Given the description of an element on the screen output the (x, y) to click on. 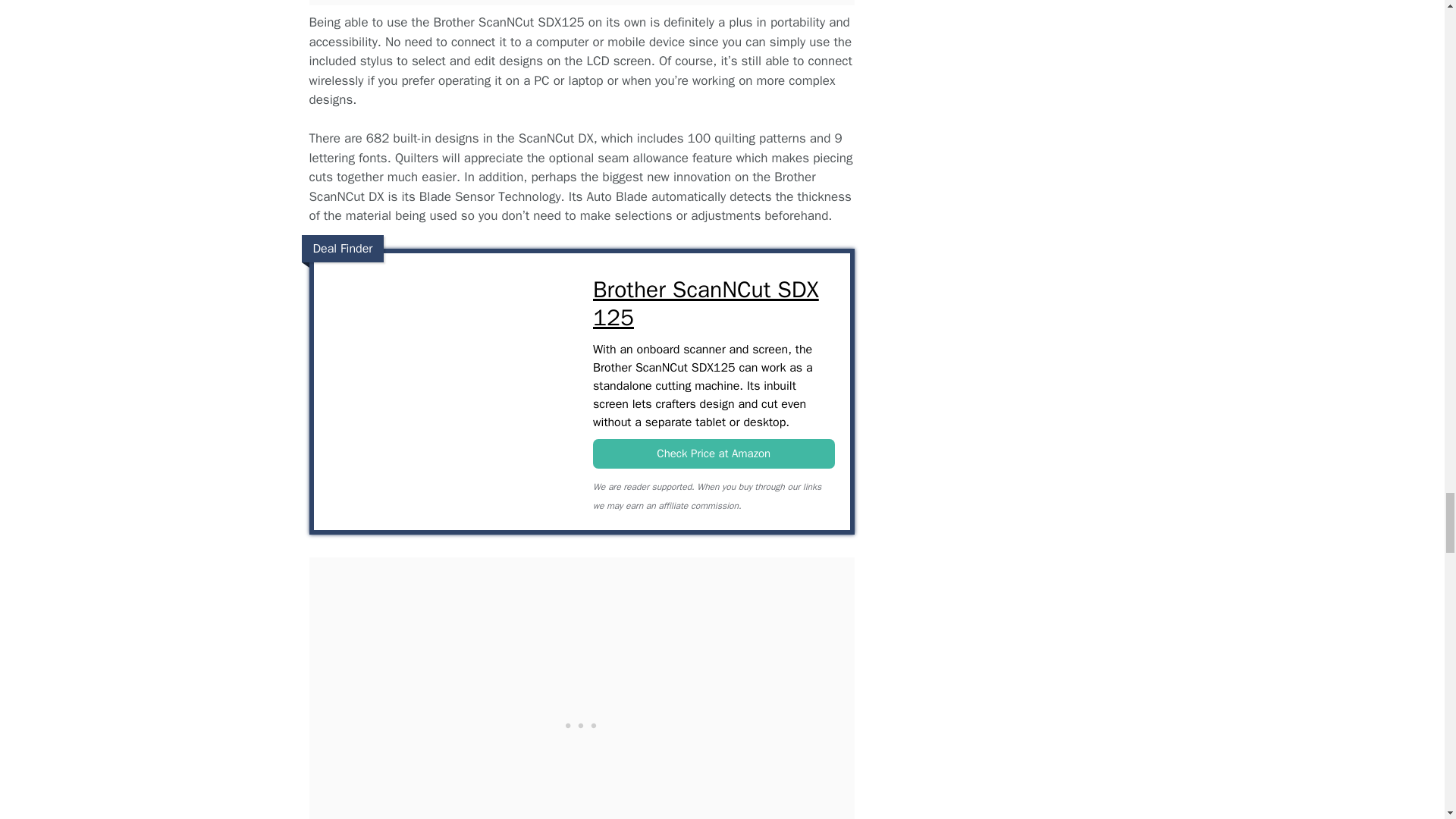
Brother ScanNCut SDX 125 (713, 304)
Brother ScanNCut SDX 125 (449, 281)
Brother ScanNCut SDX 125 (713, 453)
